Given the description of an element on the screen output the (x, y) to click on. 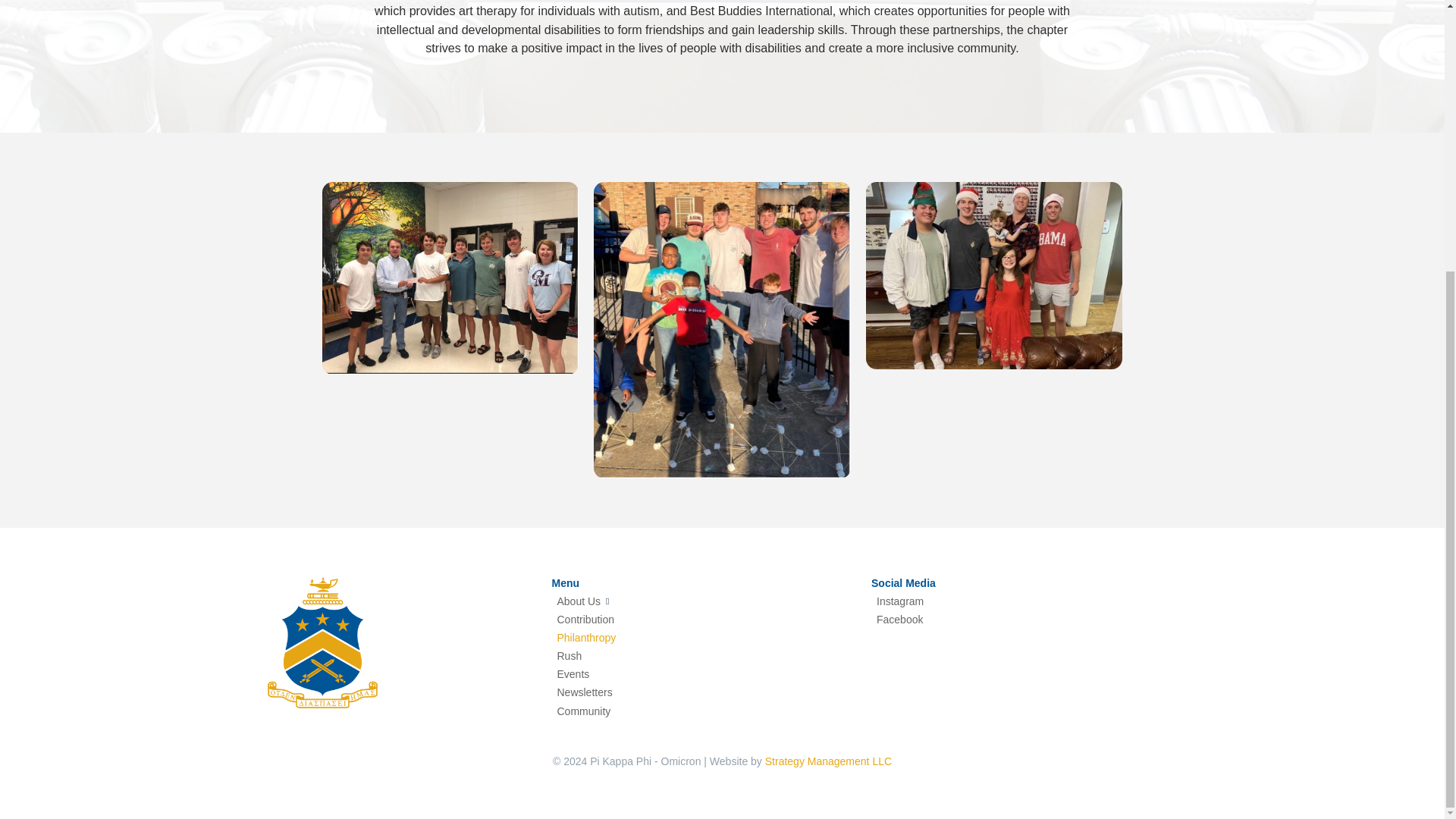
About Us (705, 601)
Rush (705, 656)
Instagram (1023, 601)
Strategy Management LLC (828, 761)
Contribution (705, 619)
Philanthropy (705, 637)
Newsletters (705, 692)
Facebook (1023, 619)
Community (705, 710)
Events (705, 674)
